Given the description of an element on the screen output the (x, y) to click on. 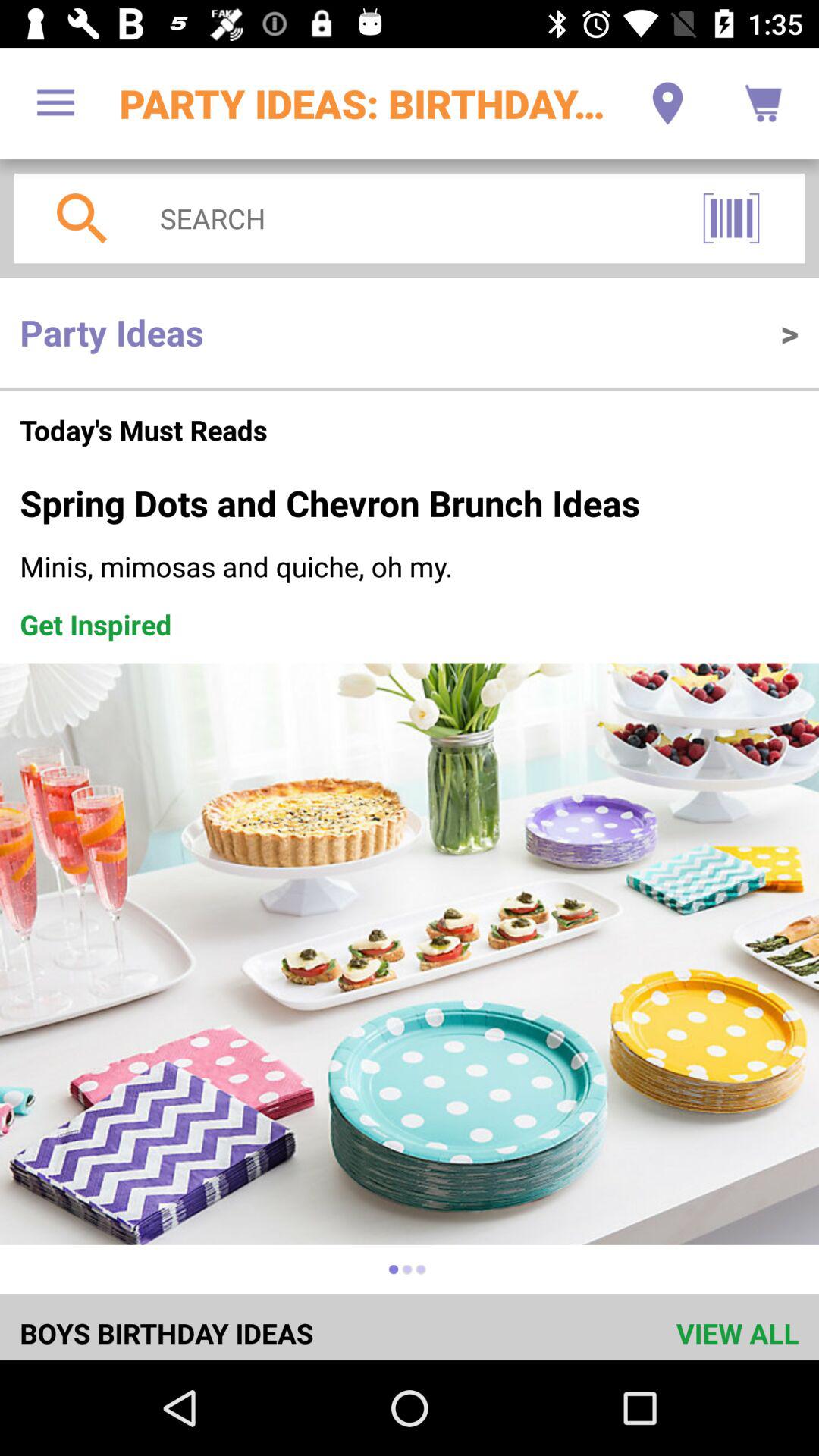
tap the item below minis mimosas and (95, 624)
